Given the description of an element on the screen output the (x, y) to click on. 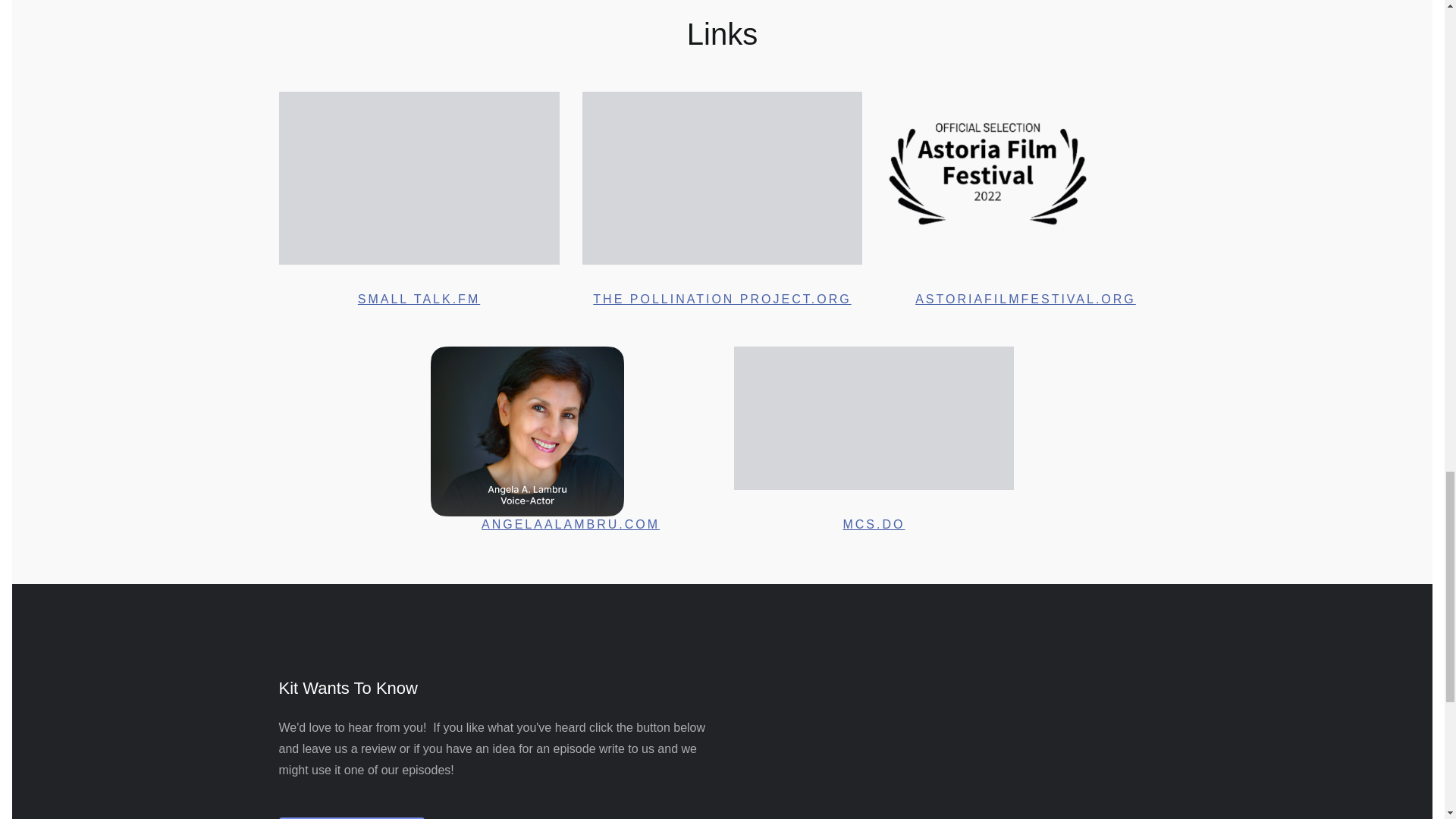
SMALL TALK.FM (419, 298)
MCS.DO (873, 523)
ANGELAALAMBRU.COM (570, 523)
Leave us a review (352, 818)
THE POLLINATION PROJECT.ORG (721, 298)
ASTORIAFILMFESTIVAL.ORG (1025, 298)
